Given the description of an element on the screen output the (x, y) to click on. 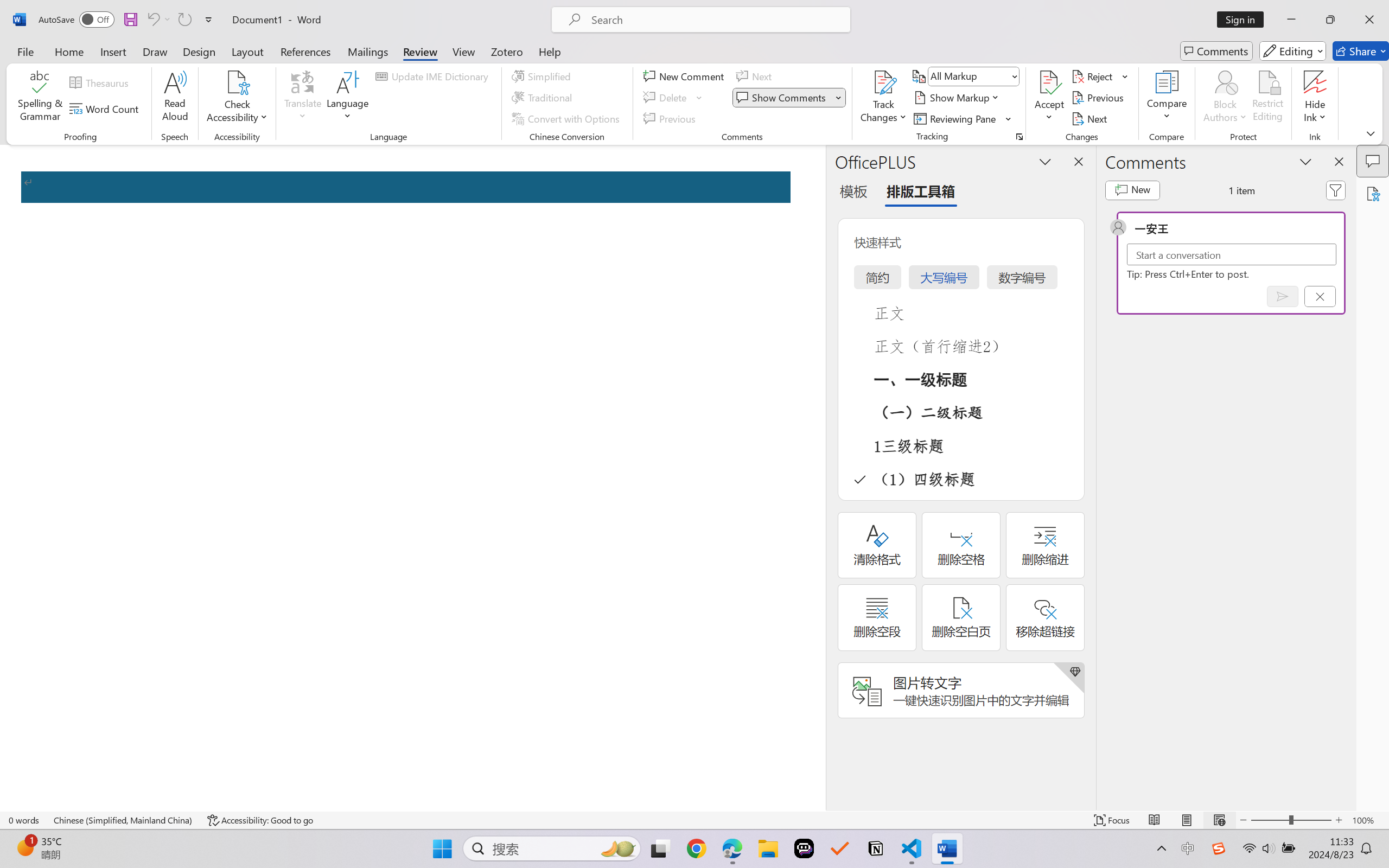
Reviewing Pane (955, 118)
Accessibility Assistant (1373, 193)
Hide Ink (1315, 97)
Translate (303, 97)
Next (1090, 118)
Check Accessibility (237, 81)
Post comment (Ctrl + Enter) (1282, 296)
